Given the description of an element on the screen output the (x, y) to click on. 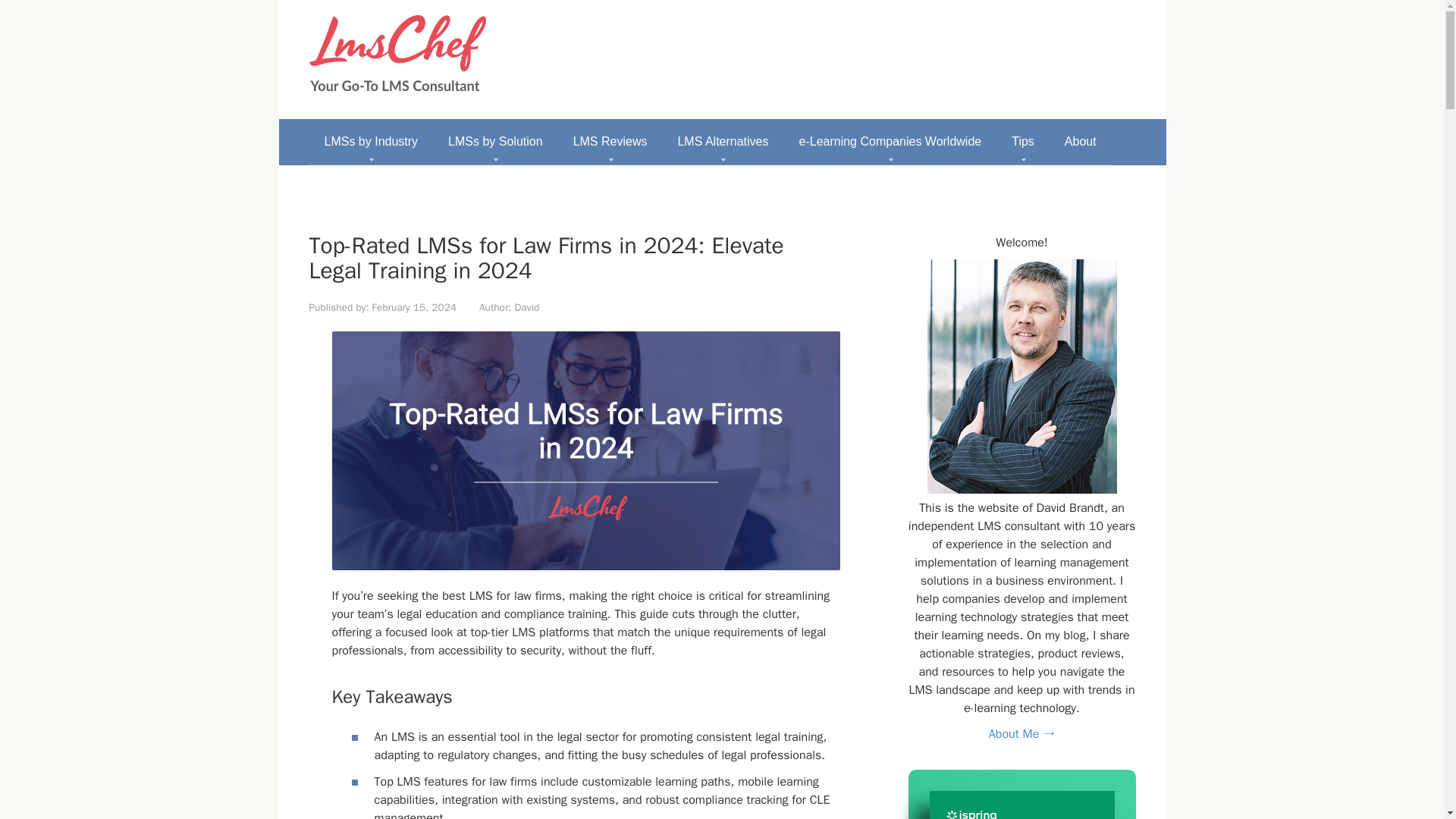
LMSs by Solution (494, 141)
LMS Reviews (609, 141)
LMS Alternatives (722, 141)
LMSs by Industry (370, 141)
